Given the description of an element on the screen output the (x, y) to click on. 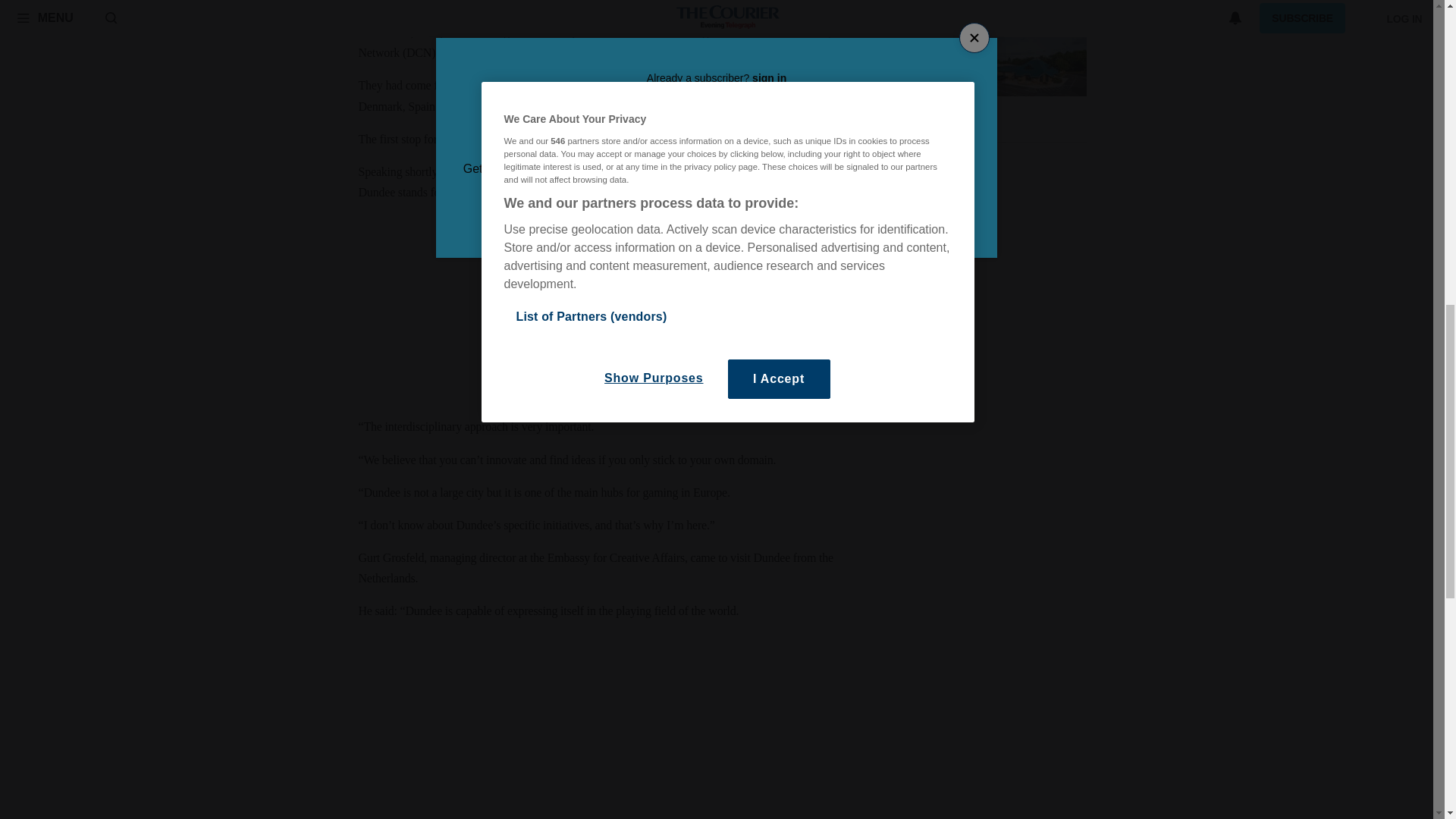
9 (876, 120)
